Given the description of an element on the screen output the (x, y) to click on. 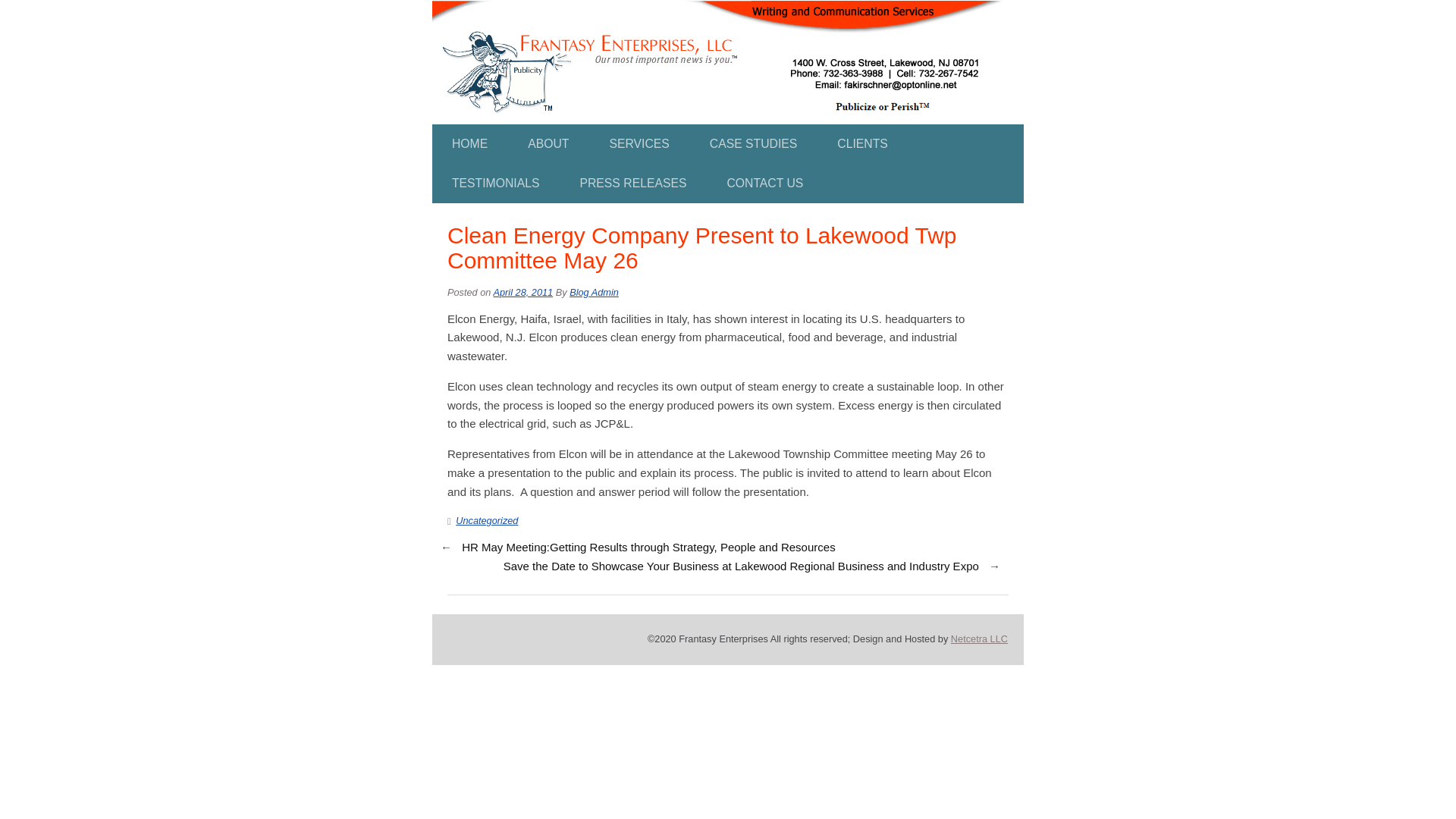
Posts by Blog Admin (593, 292)
ABOUT (548, 143)
CASE STUDIES (753, 143)
PRESS RELEASES (632, 183)
Blog Admin (593, 292)
TESTIMONIALS (495, 183)
April 28, 2011 (523, 292)
Netcetra LLC (978, 638)
SERVICES (638, 143)
